Given the description of an element on the screen output the (x, y) to click on. 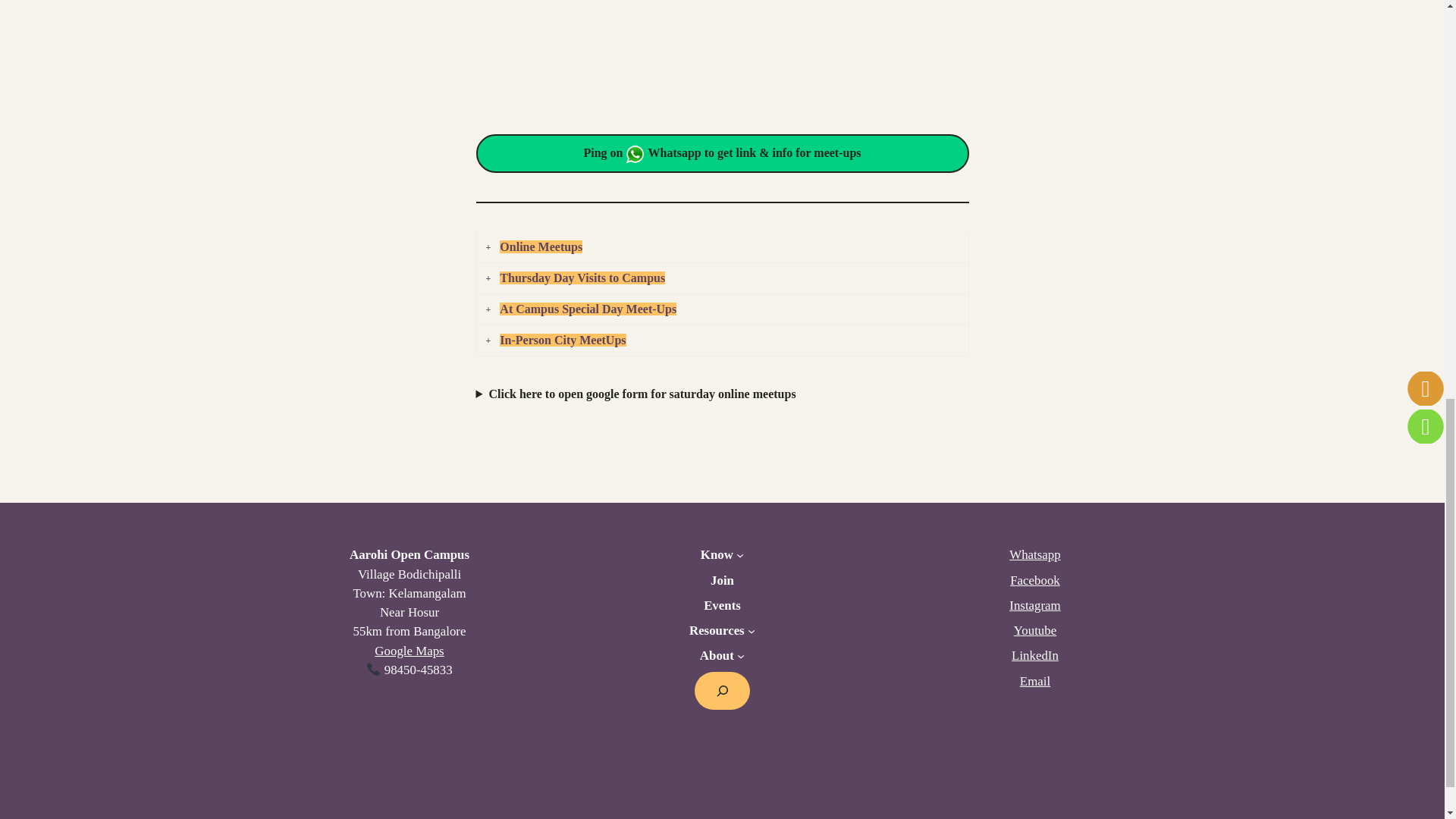
Google Maps (409, 650)
Online Meetups (721, 247)
In-Person City MeetUps (721, 340)
At Campus Special Day Meet-Ups (721, 309)
Know (716, 554)
Thursday Day Visits to Campus (721, 278)
